Given the description of an element on the screen output the (x, y) to click on. 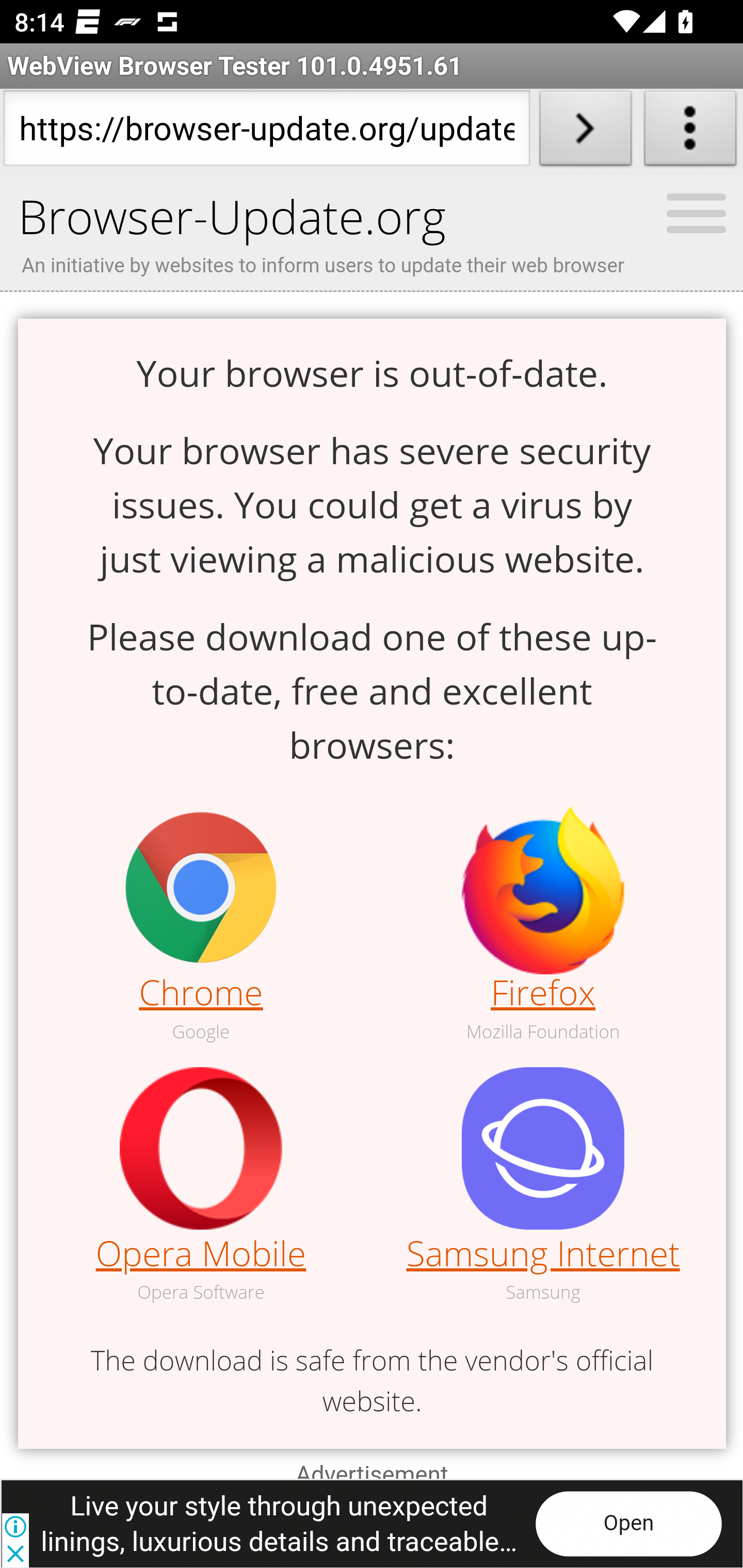
Load URL (585, 132)
About WebView (690, 132)
Chrome Google Chrome Google (201, 926)
Samsung Internet Samsung Samsung Internet Samsung (543, 1186)
